Given the description of an element on the screen output the (x, y) to click on. 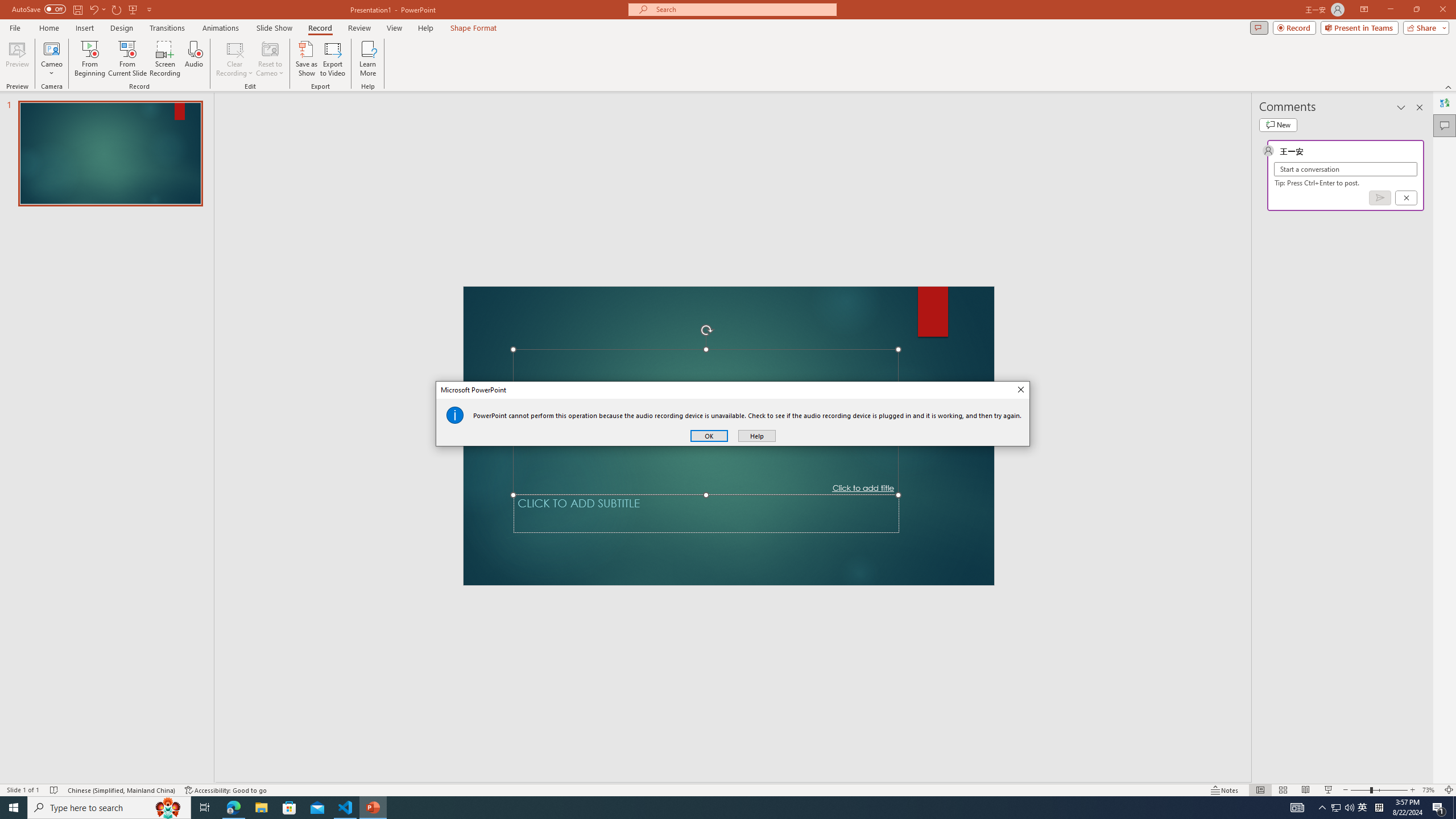
File Explorer (261, 807)
Reset to Cameo (269, 58)
View (395, 28)
Shape Format (473, 28)
Clear Recording (234, 58)
Zoom 73% (1430, 790)
Show desktop (1454, 807)
Present in Teams (1359, 27)
Task View (204, 807)
Type here to search (108, 807)
Microsoft search (742, 9)
Animations (220, 28)
Screen Recording (165, 58)
